Given the description of an element on the screen output the (x, y) to click on. 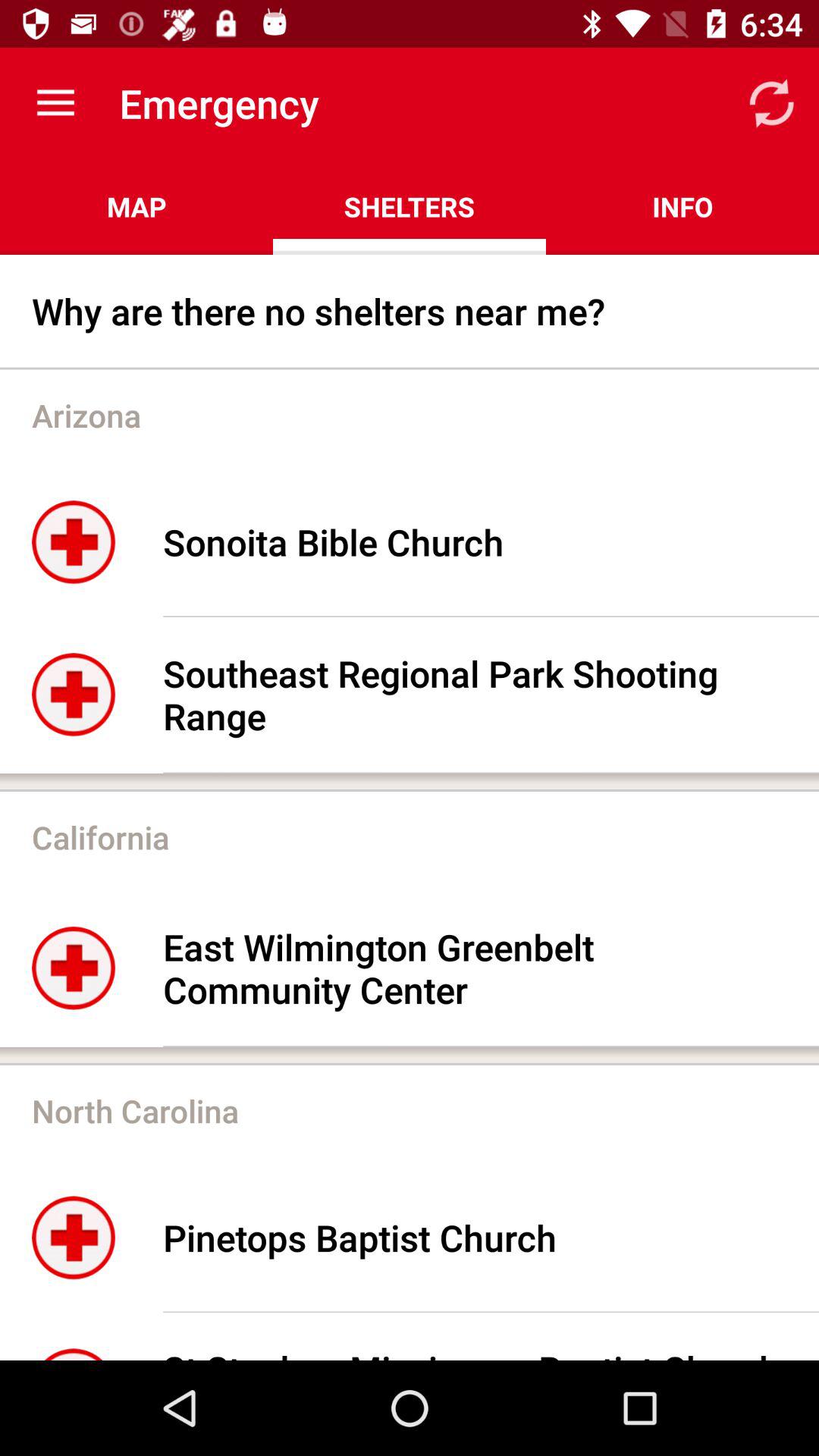
launch the icon to the right of shelters (682, 206)
